Given the description of an element on the screen output the (x, y) to click on. 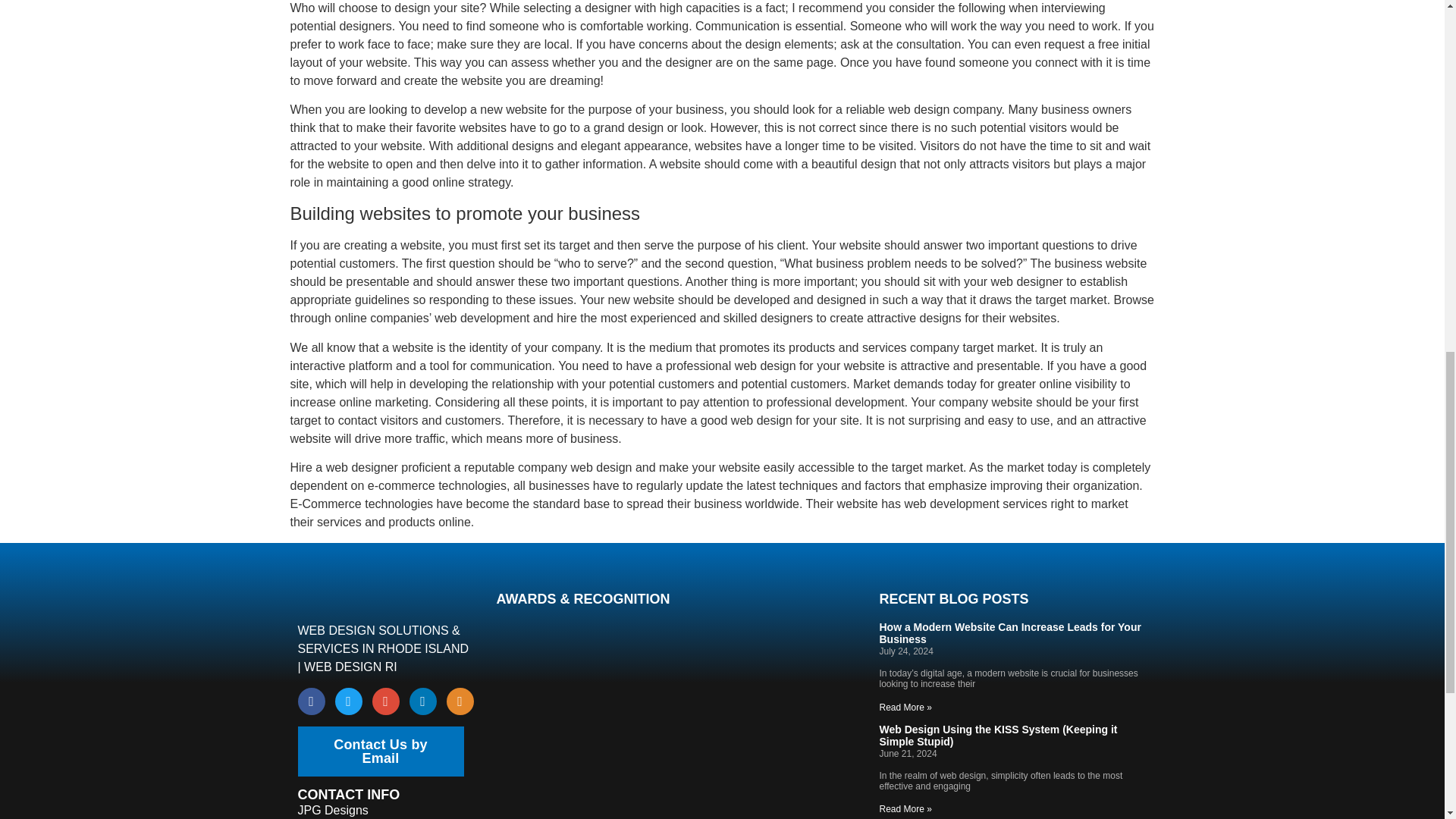
Contact Us by Email (380, 751)
